Given the description of an element on the screen output the (x, y) to click on. 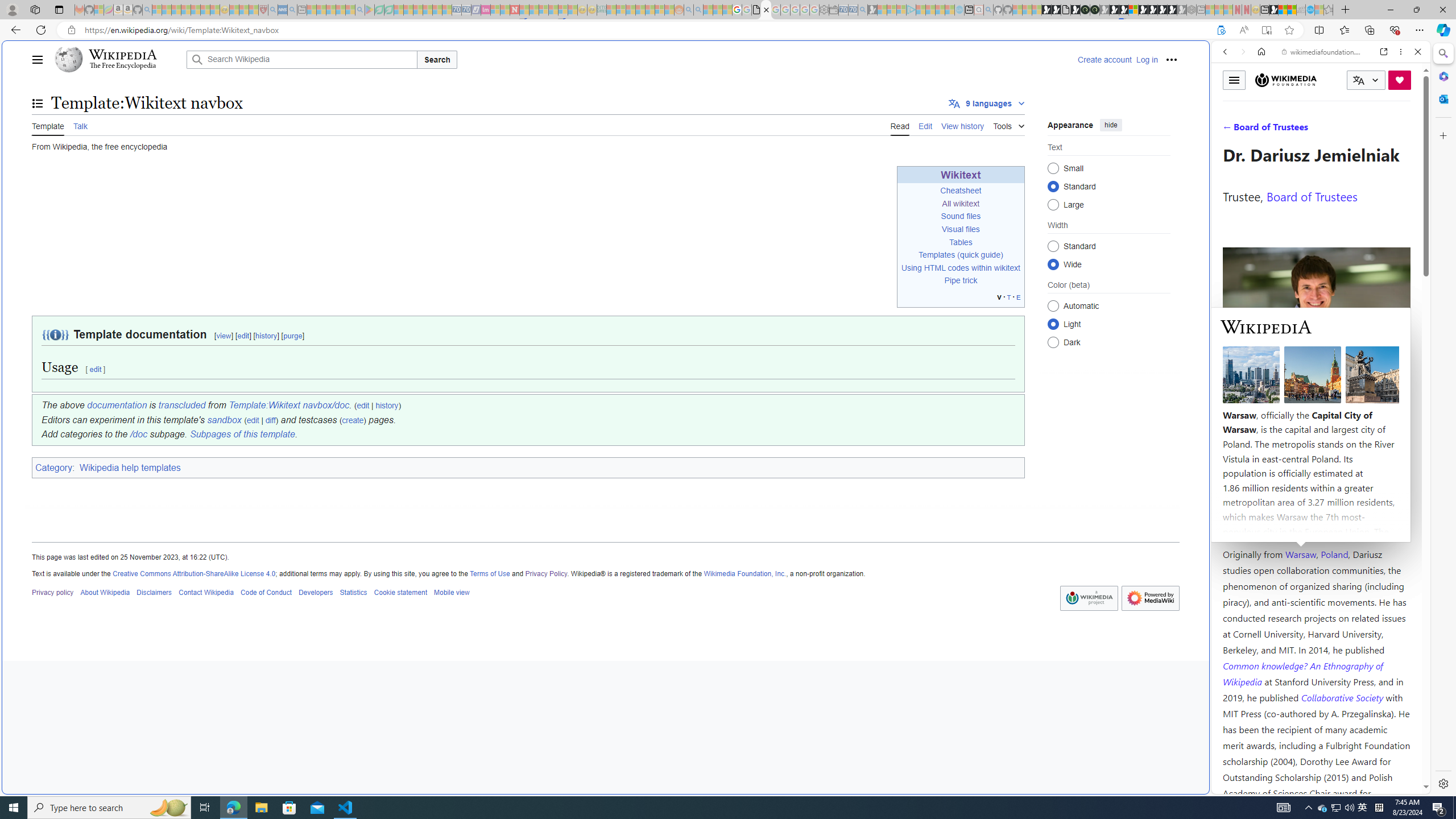
About Wikipedia (104, 591)
Wikimedia Foundation, Inc. (744, 573)
Wide (1053, 263)
